Given the description of an element on the screen output the (x, y) to click on. 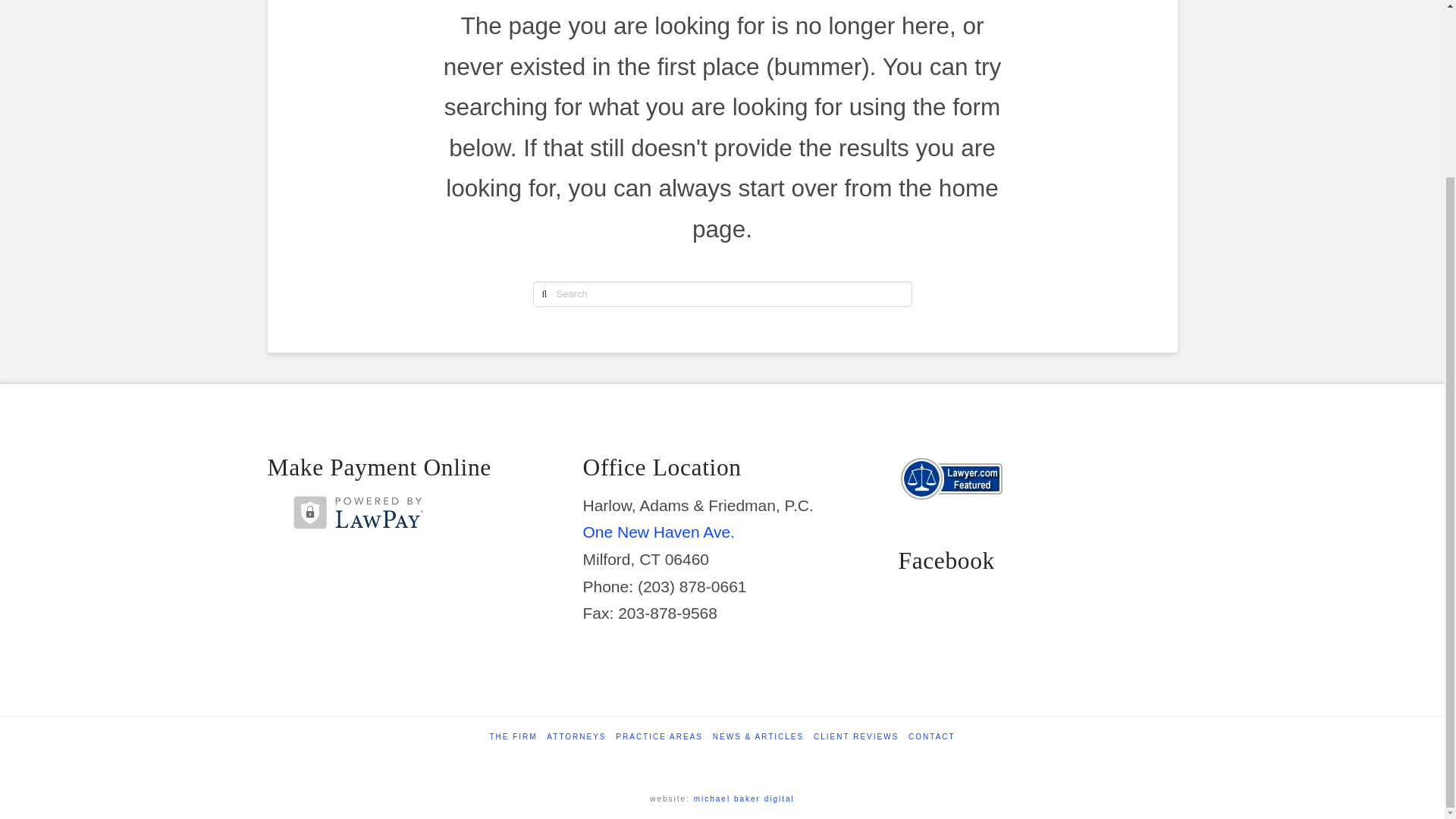
ATTORNEYS (576, 737)
CLIENT REVIEWS (855, 737)
michael baker digital (744, 798)
PRACTICE AREAS (659, 737)
CONTACT (931, 737)
THE FIRM (513, 737)
One New Haven Ave. (657, 531)
